Given the description of an element on the screen output the (x, y) to click on. 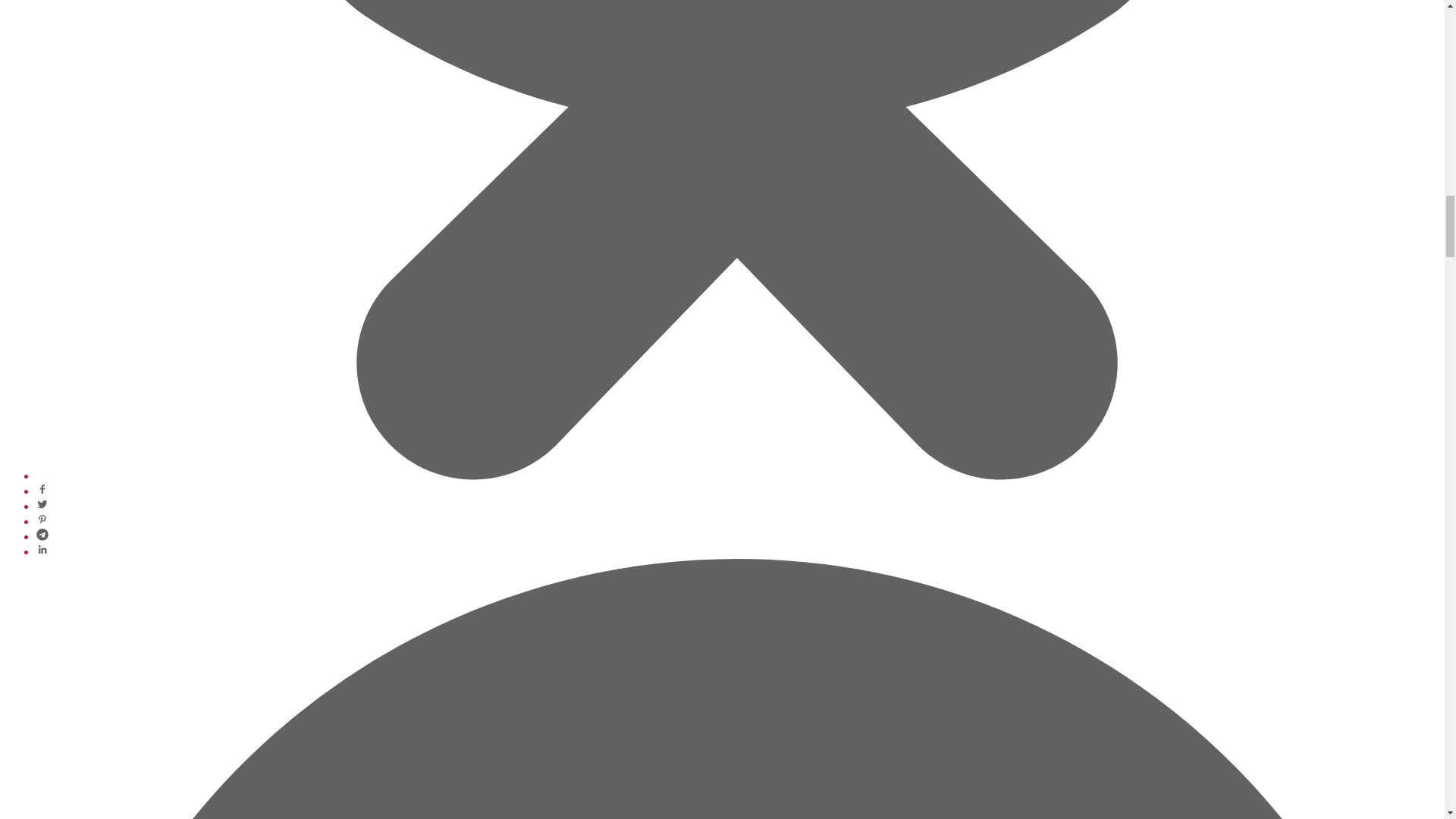
Pinterest (42, 521)
Linkedin (42, 551)
Twitter (42, 505)
Telegram (42, 535)
Facebook (42, 490)
